Given the description of an element on the screen output the (x, y) to click on. 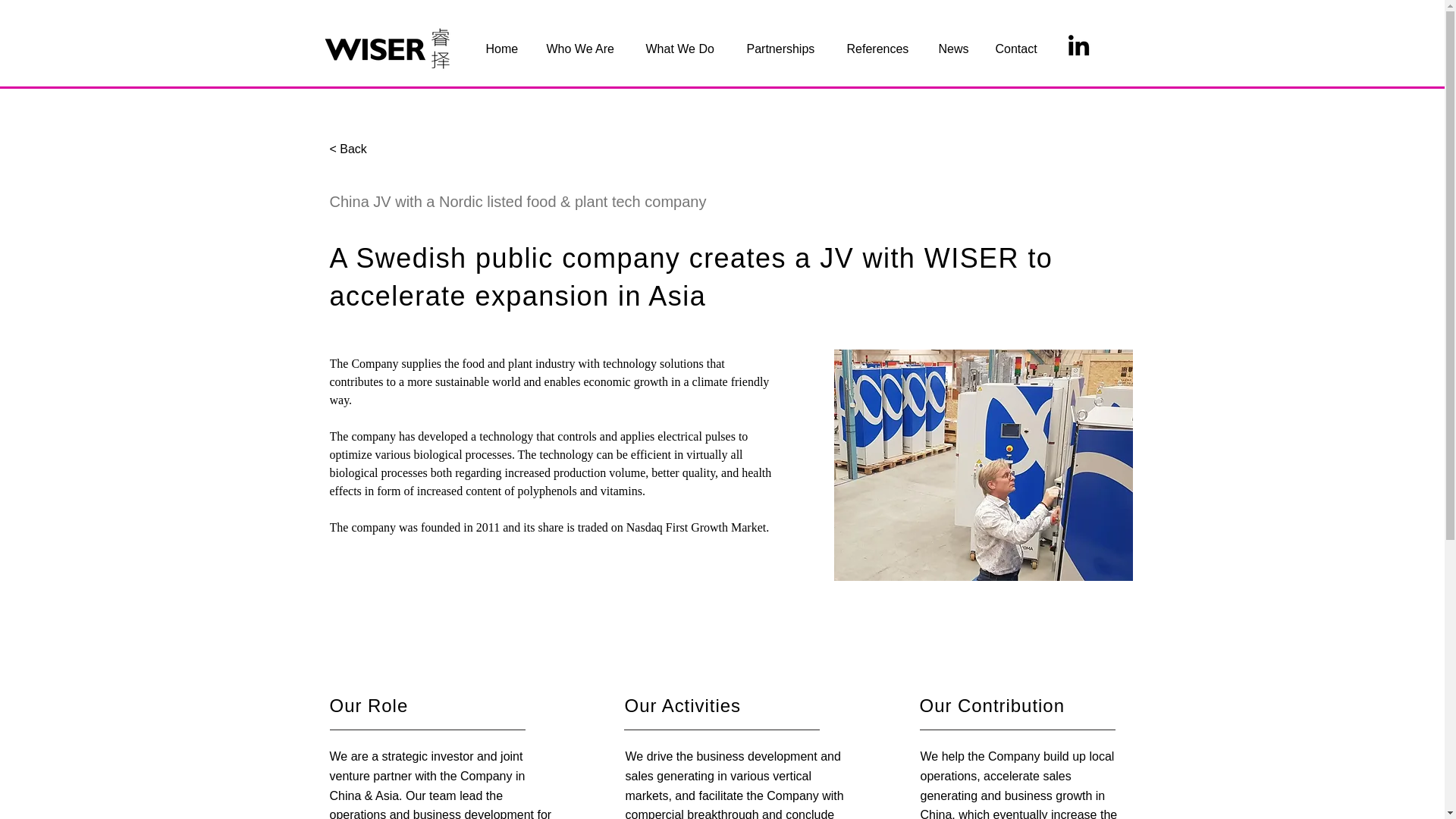
Who We Are (584, 48)
Home (504, 48)
opticept.jpeg (983, 464)
News (955, 48)
Contact (1020, 48)
Partnerships (785, 48)
